Given the description of an element on the screen output the (x, y) to click on. 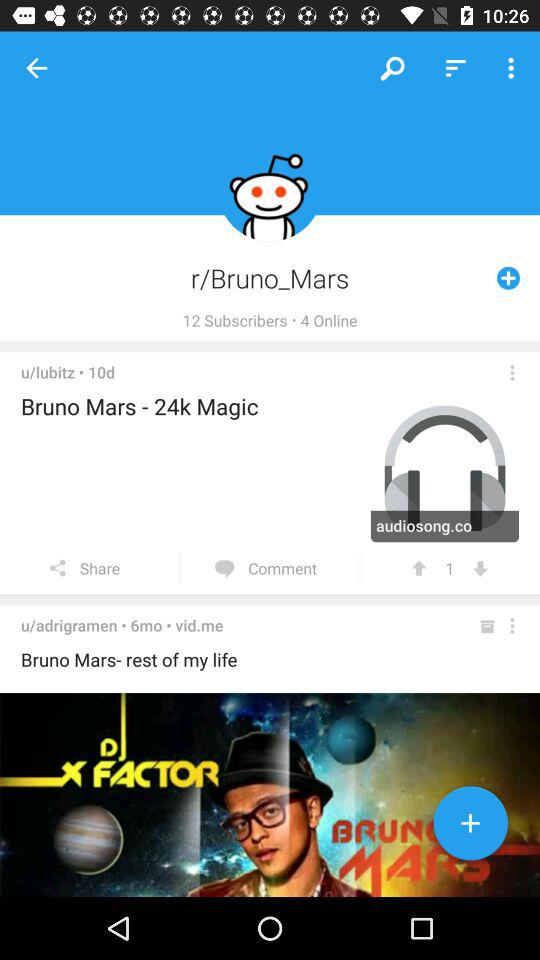
add favorite (470, 827)
